Given the description of an element on the screen output the (x, y) to click on. 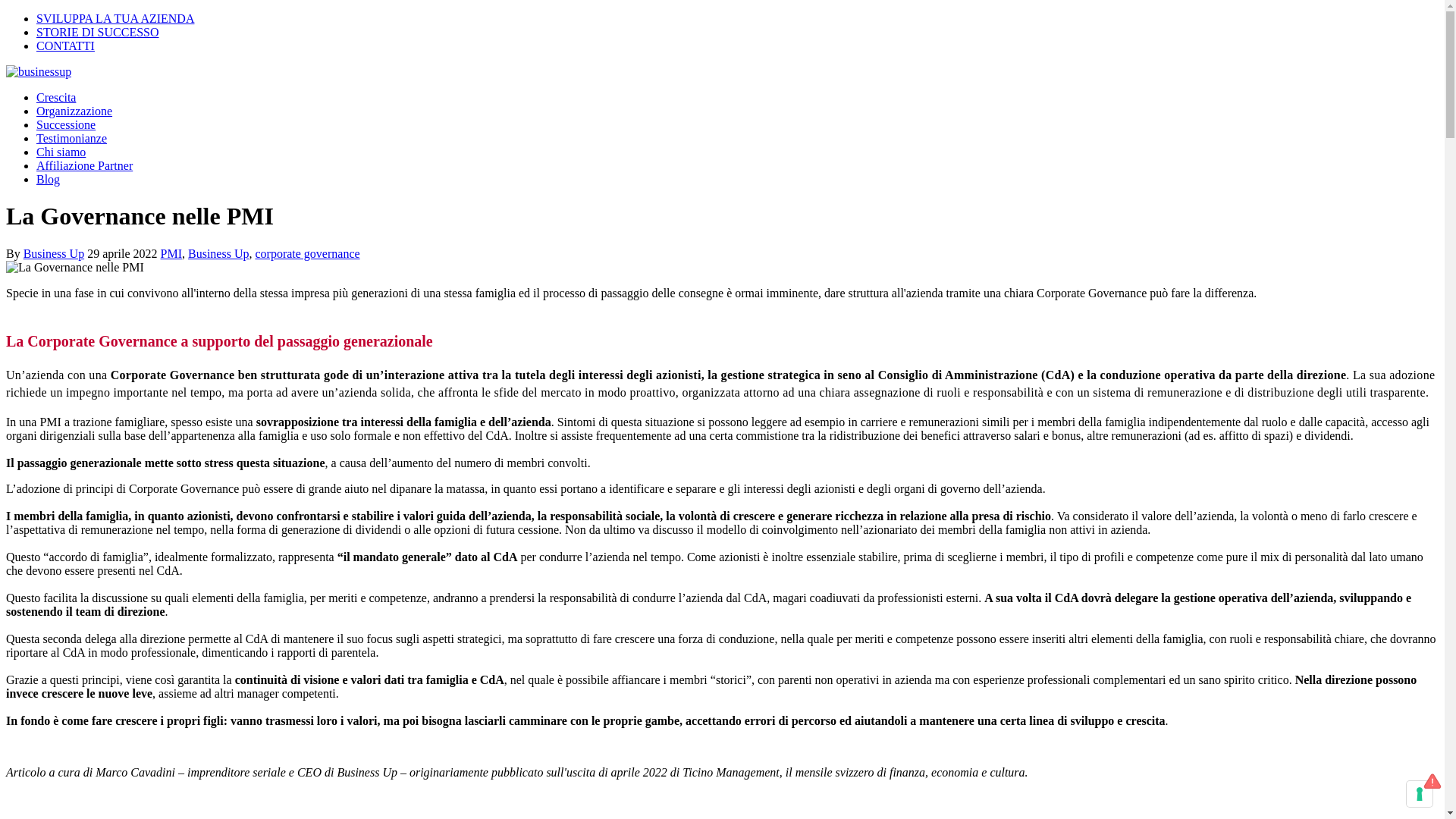
CONTATTI Element type: text (65, 45)
SVILUPPA LA TUA AZIENDA Element type: text (115, 18)
Successione Element type: text (65, 124)
Testimonianze Element type: text (71, 137)
Crescita Element type: text (55, 97)
businessup Element type: hover (38, 71)
Blog Element type: text (47, 178)
PMI Element type: text (171, 253)
corporate governance Element type: text (306, 253)
STORIE DI SUCCESSO Element type: text (97, 31)
Business Up Element type: text (218, 253)
Business Up Element type: text (53, 253)
Organizzazione Element type: text (74, 110)
Chi siamo Element type: text (60, 151)
Affiliazione Partner Element type: text (84, 165)
